Given the description of an element on the screen output the (x, y) to click on. 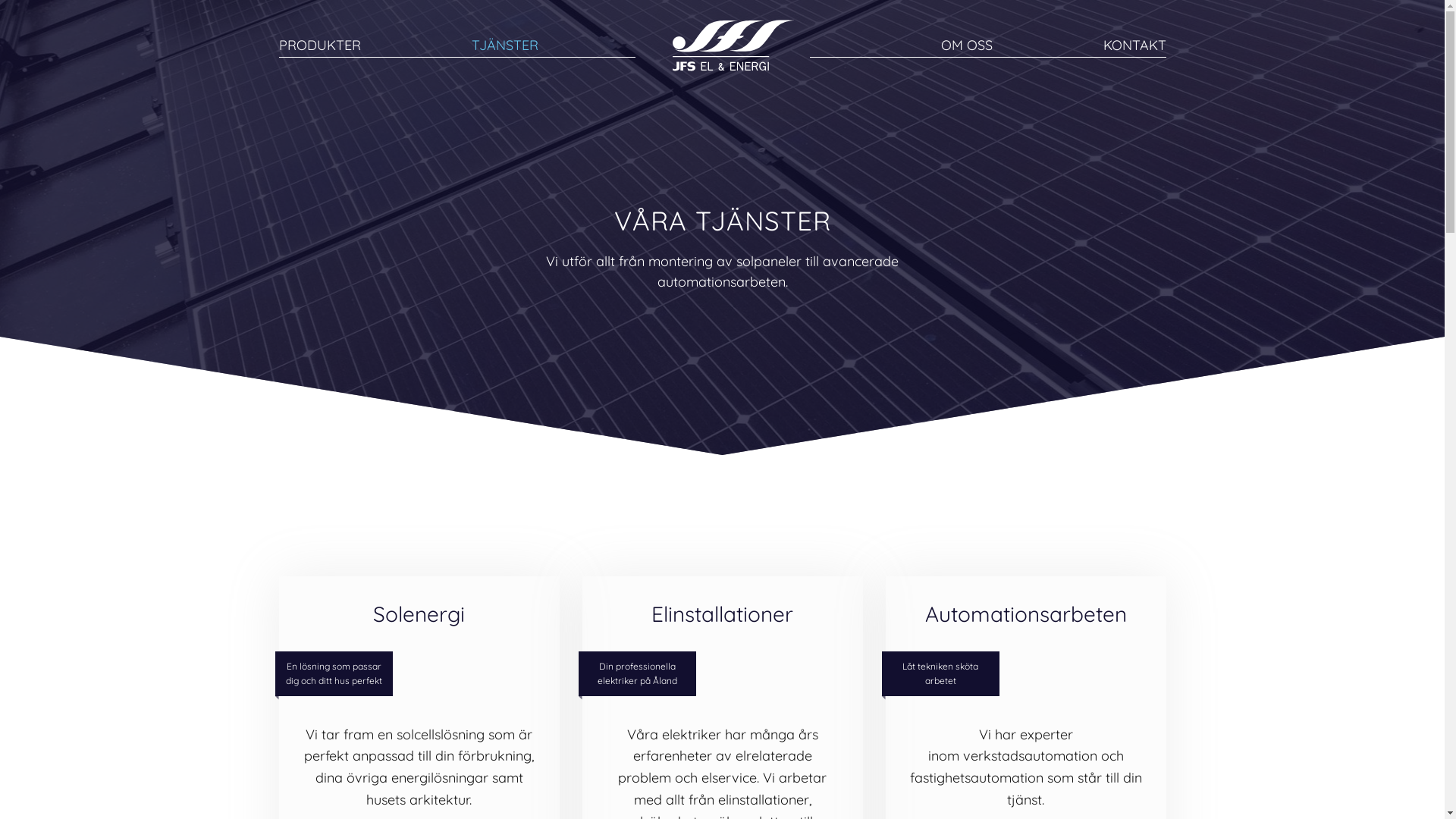
OM OSS Element type: text (965, 44)
KONTAKT Element type: text (1133, 44)
PRODUKTER Element type: text (319, 44)
